Given the description of an element on the screen output the (x, y) to click on. 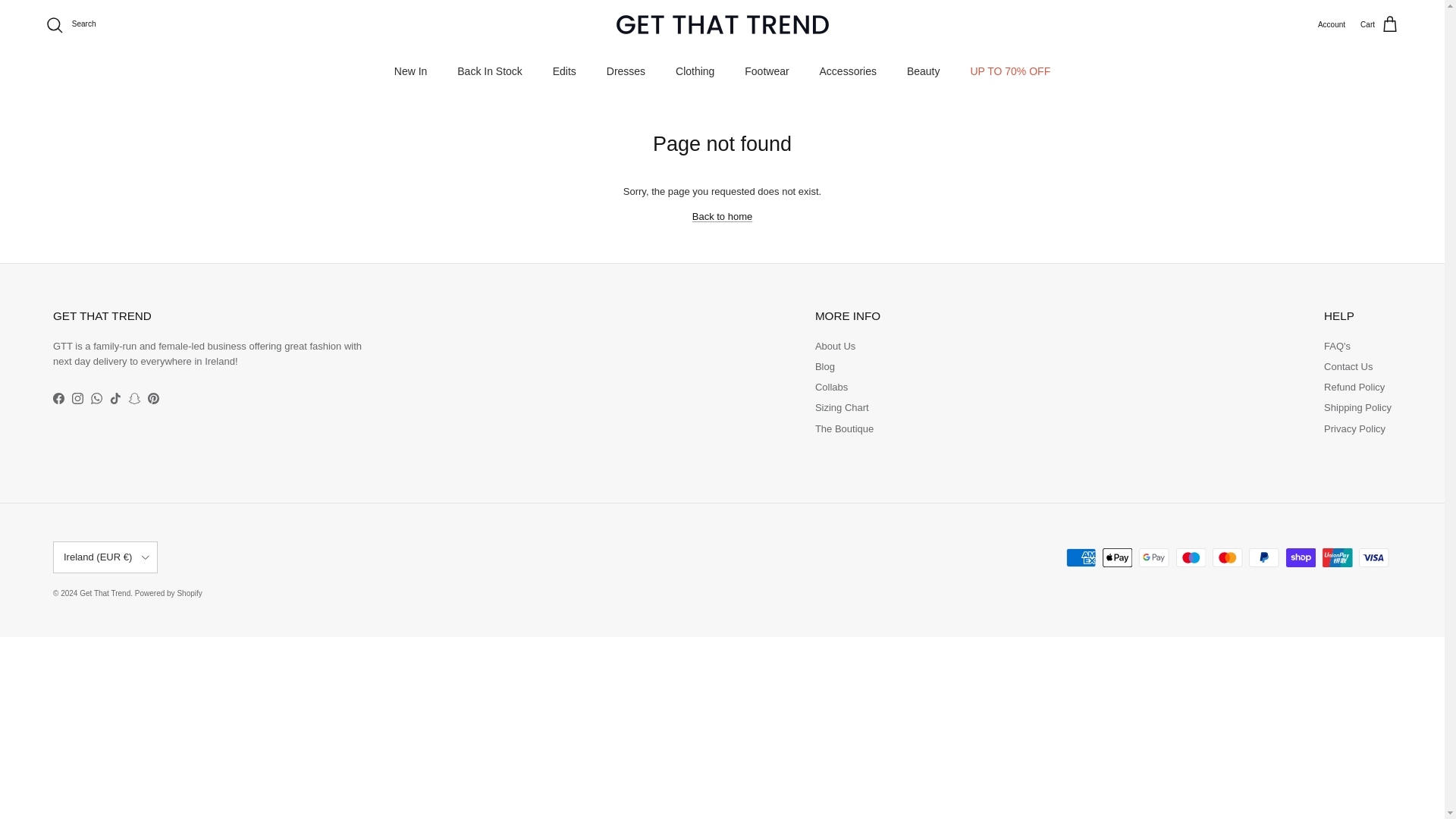
Account (1331, 24)
PayPal (1263, 557)
Get That Trend on Facebook (58, 398)
Cart (1379, 25)
Google Pay (1153, 557)
Get That Trend on WhatsApp (95, 398)
New In (410, 71)
Get That Trend on Instagram (76, 398)
Back In Stock (489, 71)
Get That Trend on Snapchat (134, 398)
